Given the description of an element on the screen output the (x, y) to click on. 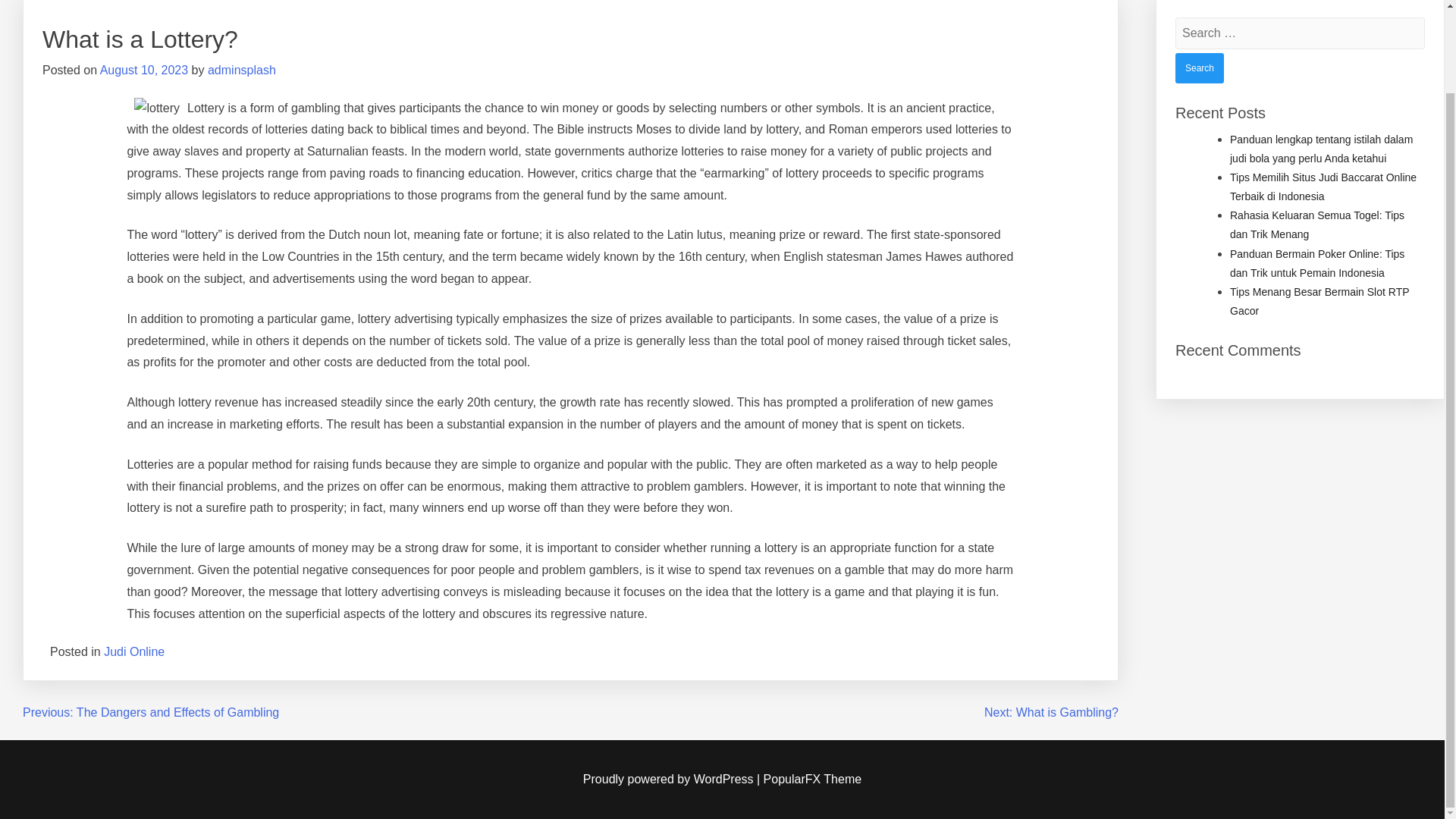
Next: What is Gambling? (1051, 712)
Tips Memilih Situs Judi Baccarat Online Terbaik di Indonesia (1323, 186)
PopularFX Theme (811, 779)
Judi Online (133, 651)
adminsplash (242, 69)
Proudly powered by WordPress (670, 779)
Rahasia Keluaran Semua Togel: Tips dan Trik Menang (1317, 224)
Previous: The Dangers and Effects of Gambling (151, 712)
Search (1199, 68)
Search (1199, 68)
August 10, 2023 (144, 69)
Tips Menang Besar Bermain Slot RTP Gacor (1319, 300)
Search (1199, 68)
